Given the description of an element on the screen output the (x, y) to click on. 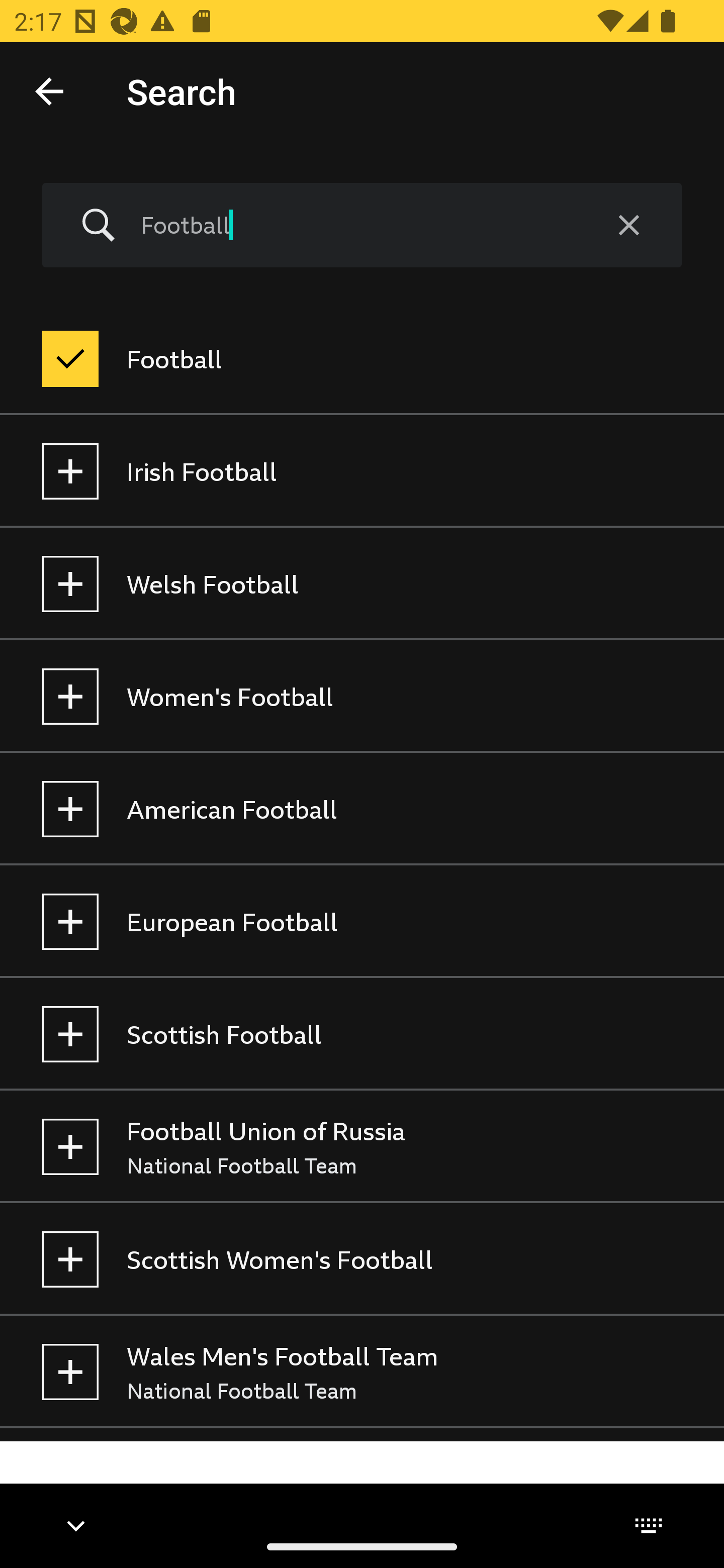
Done (49, 90)
Football Clear query (361, 225)
Clear query (628, 225)
Football (358, 224)
Football (362, 358)
Irish Football (362, 471)
Welsh Football (362, 583)
Women's Football (362, 695)
American Football (362, 808)
European Football (362, 921)
Scottish Football (362, 1034)
Scottish Women's Football (362, 1258)
